Given the description of an element on the screen output the (x, y) to click on. 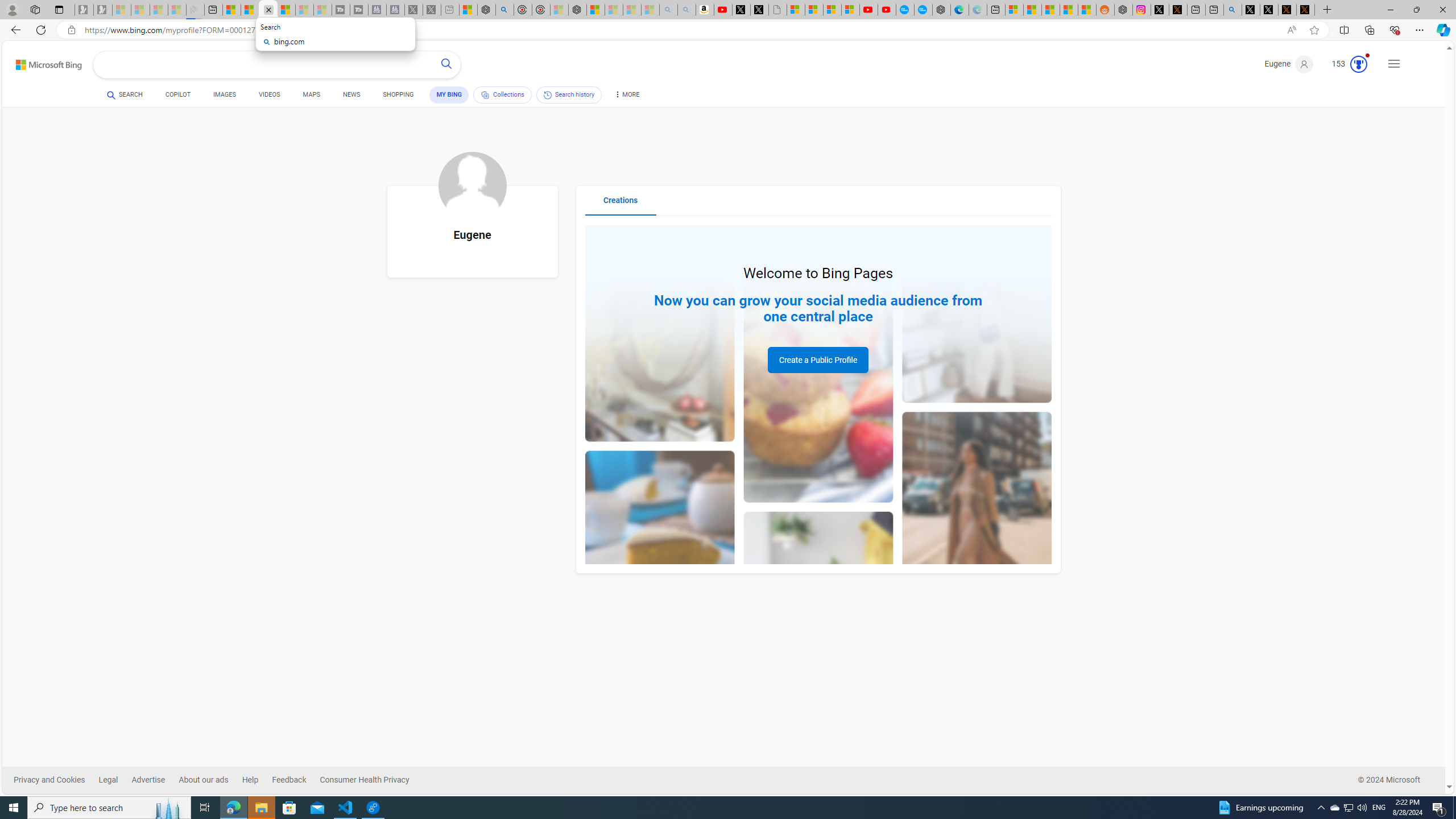
Create a Public Profile (818, 360)
Help (250, 779)
Privacy and Cookies (49, 779)
Gloom - YouTube (868, 9)
SEARCH (124, 94)
Advertise (155, 780)
Shanghai, China hourly forecast | Microsoft Weather (1050, 9)
X Privacy Policy (1305, 9)
The most popular Google 'how to' searches (923, 9)
